Given the description of an element on the screen output the (x, y) to click on. 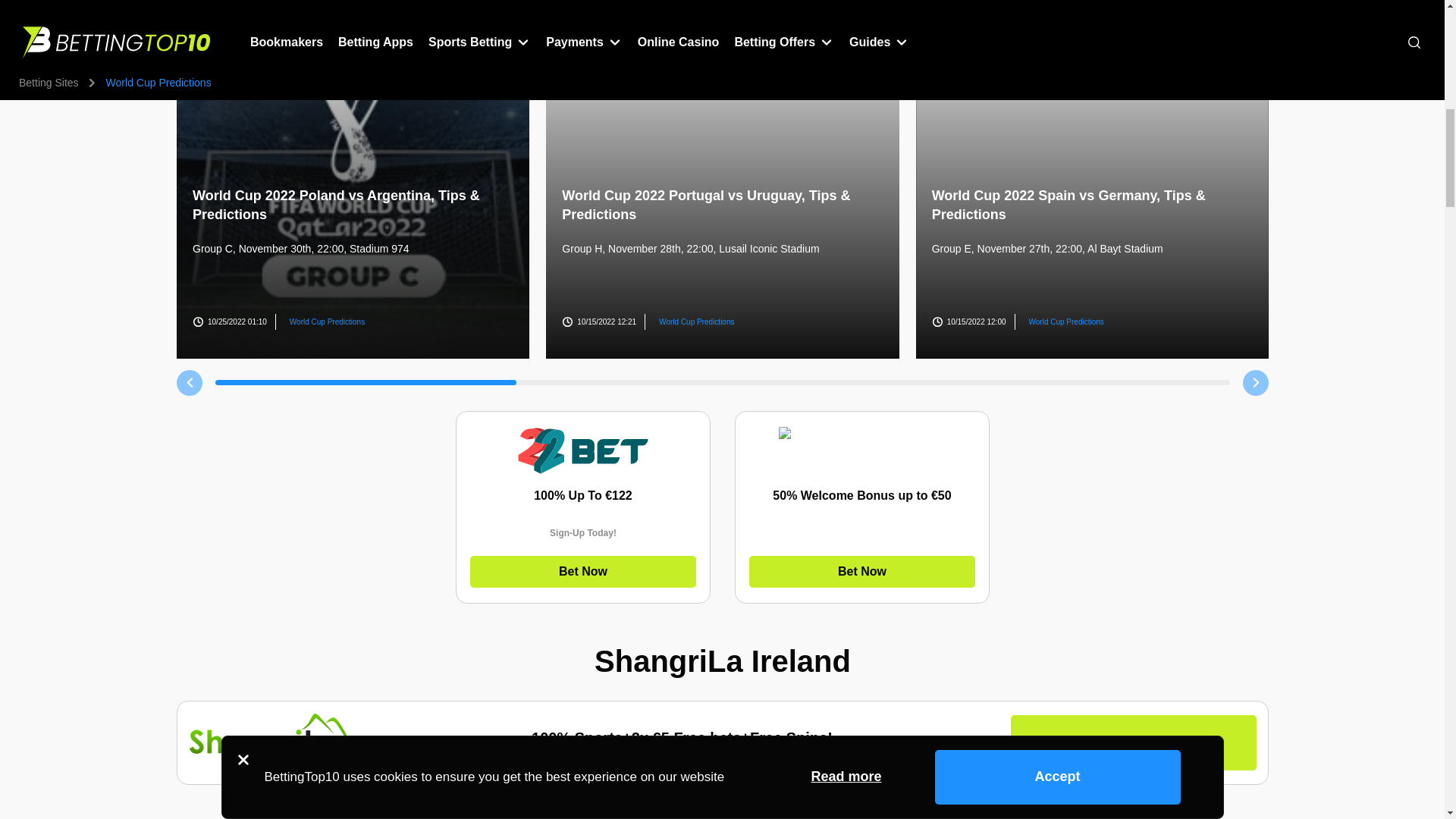
10bet (860, 450)
shangrila (271, 736)
22bet (582, 450)
